Given the description of an element on the screen output the (x, y) to click on. 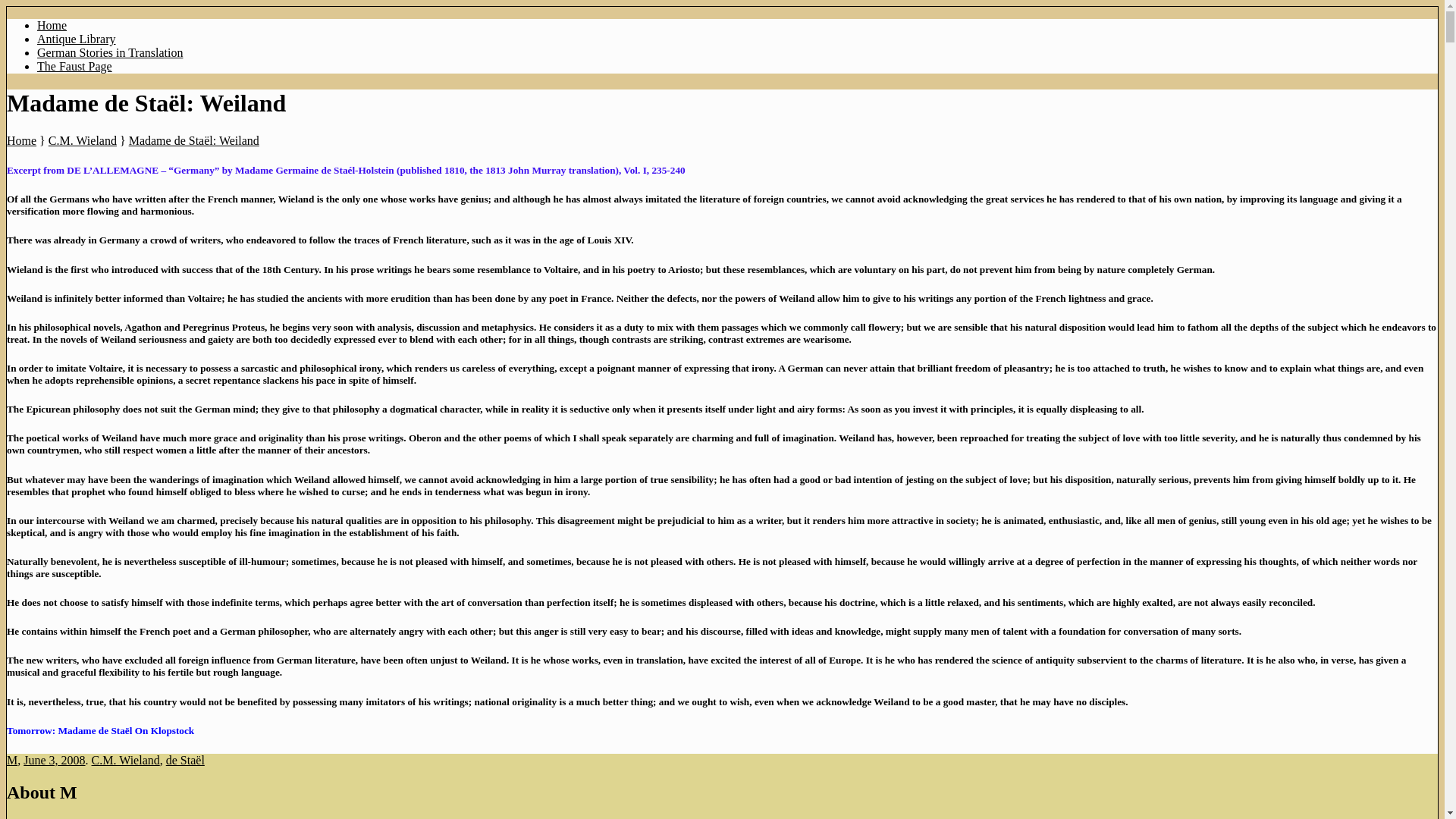
June 3, 2008 (53, 759)
Home (21, 140)
German Stories in Translation (110, 51)
Home (51, 24)
The Faust Page (74, 65)
C.M. Wieland (82, 140)
Antique Library (76, 38)
C.M. Wieland (125, 759)
